Given the description of an element on the screen output the (x, y) to click on. 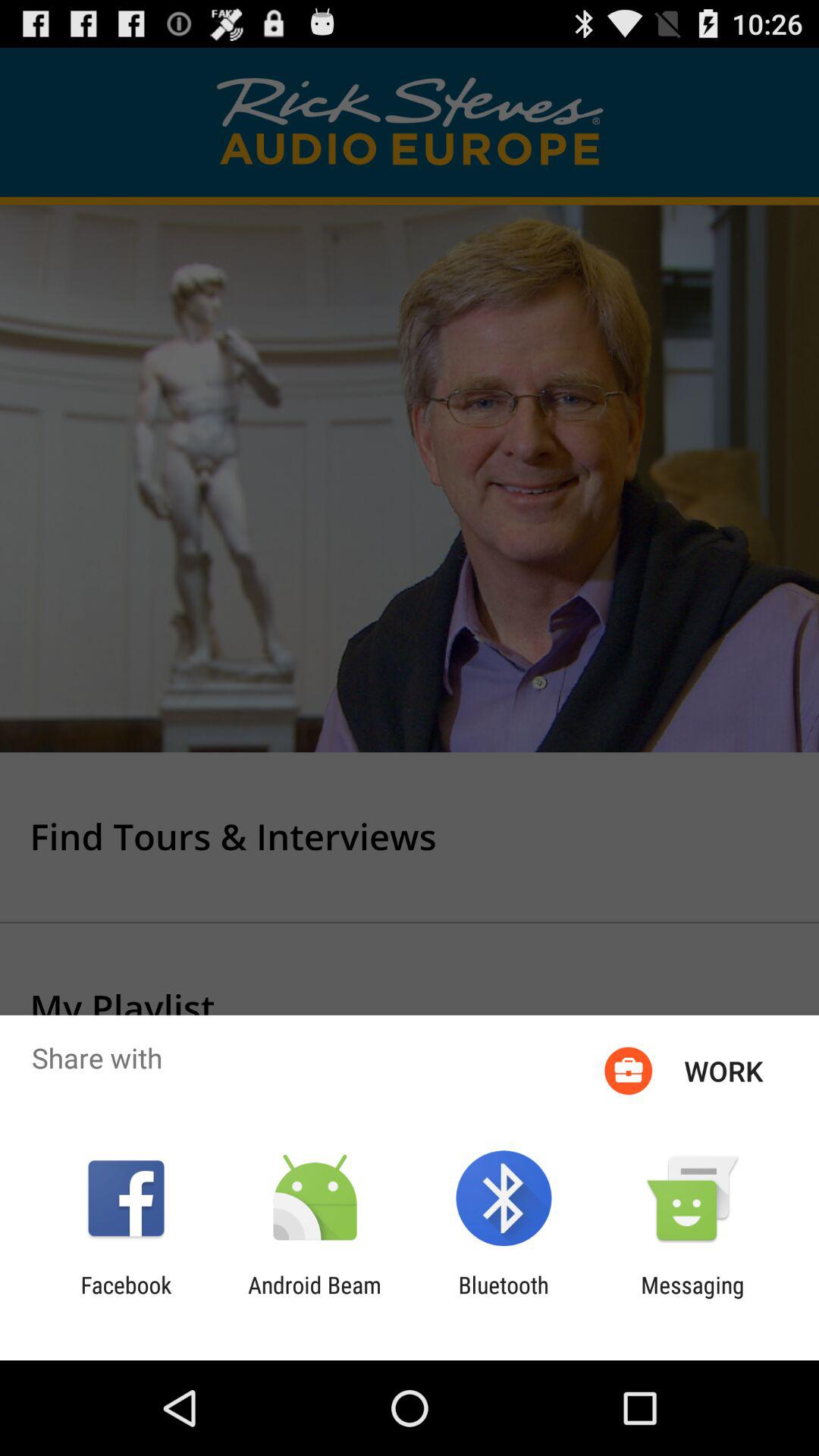
scroll until the bluetooth item (503, 1298)
